Given the description of an element on the screen output the (x, y) to click on. 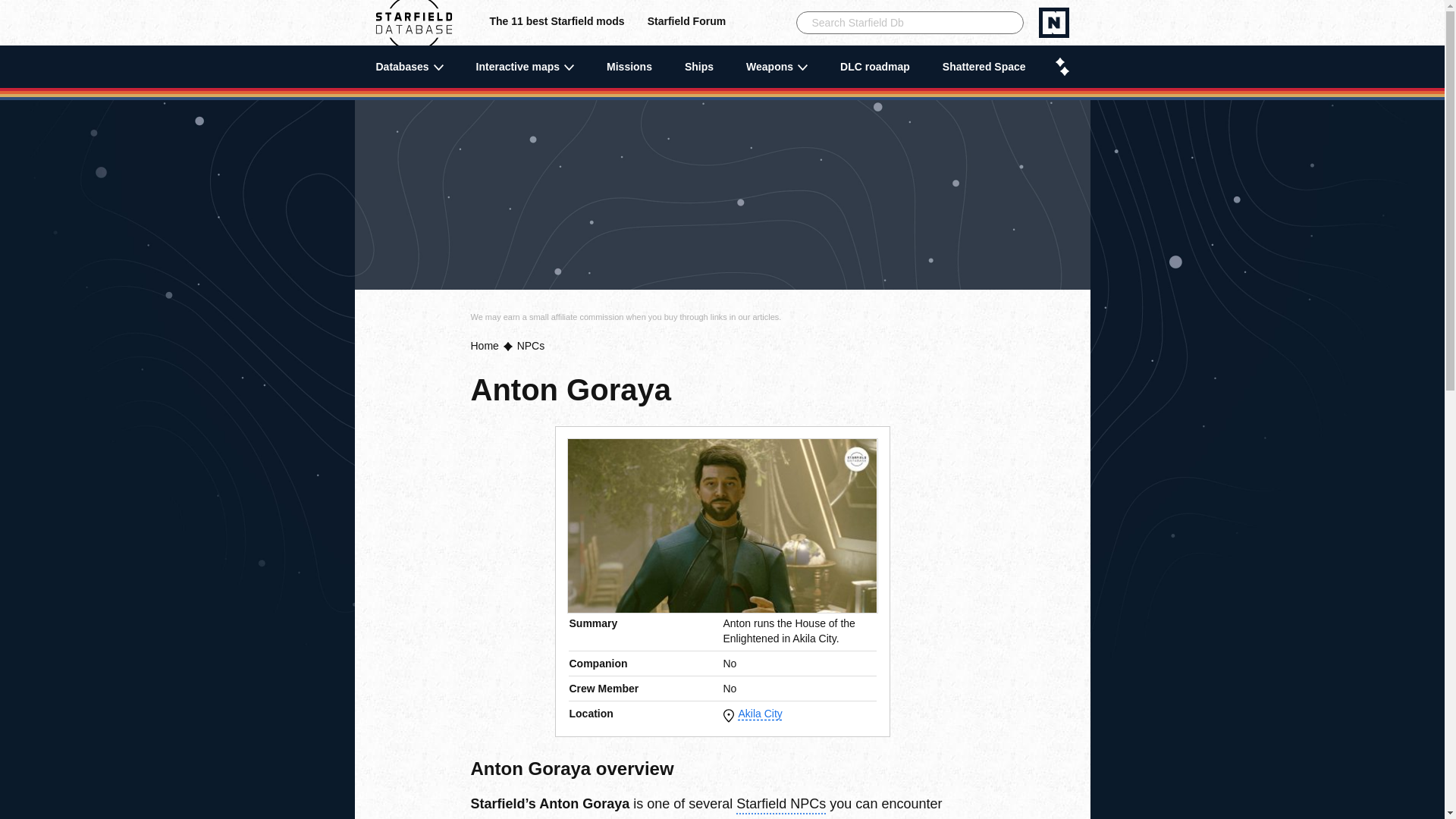
Starfield mods (556, 22)
The 11 best Starfield mods (556, 22)
Interactive maps (525, 66)
Databases (409, 66)
Starfield Forum (686, 22)
